Given the description of an element on the screen output the (x, y) to click on. 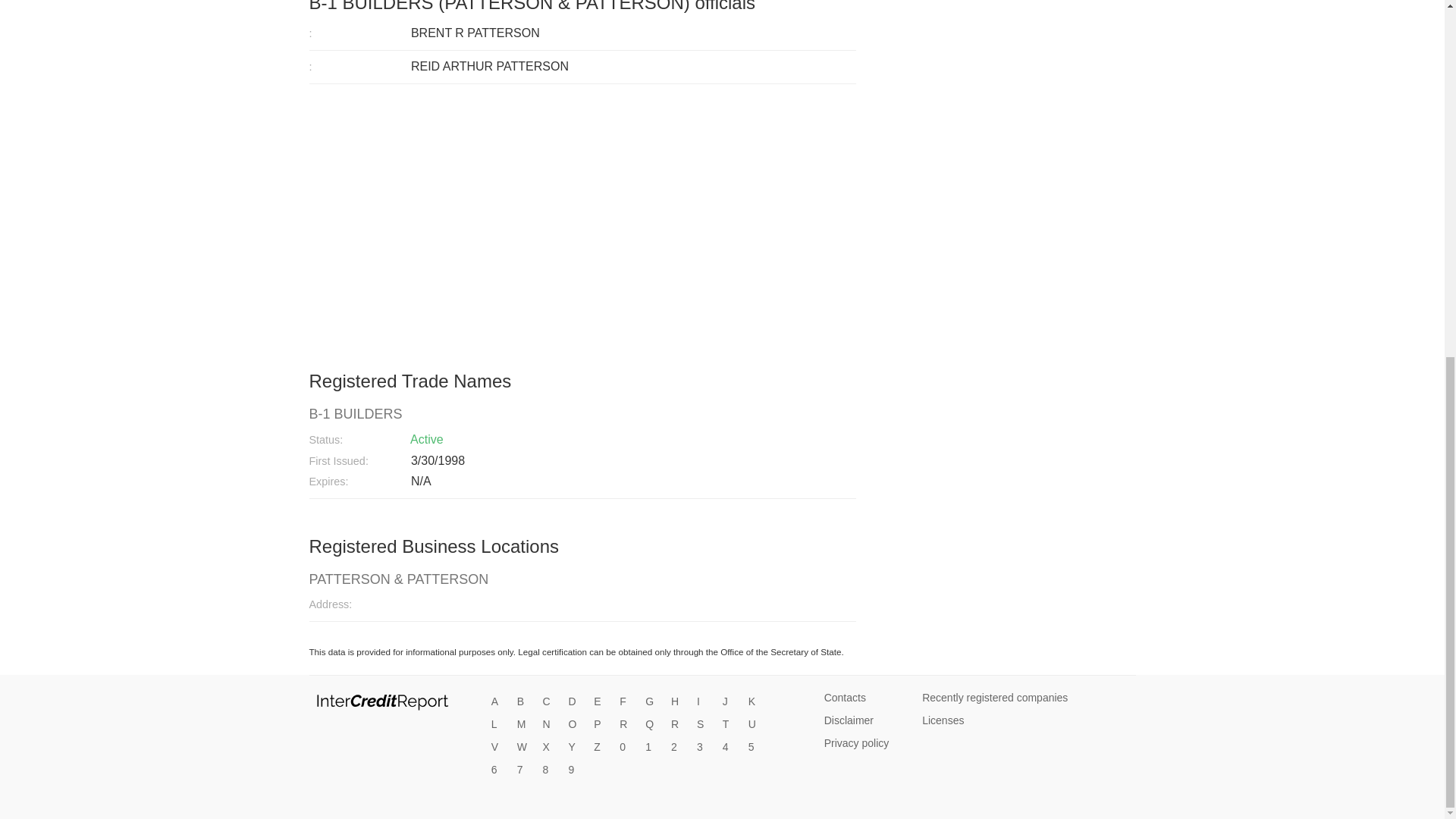
1 (653, 747)
N (550, 724)
R (627, 724)
O (575, 724)
D (575, 702)
L (499, 724)
Z (601, 747)
S (704, 724)
V (499, 747)
H (678, 702)
